Given the description of an element on the screen output the (x, y) to click on. 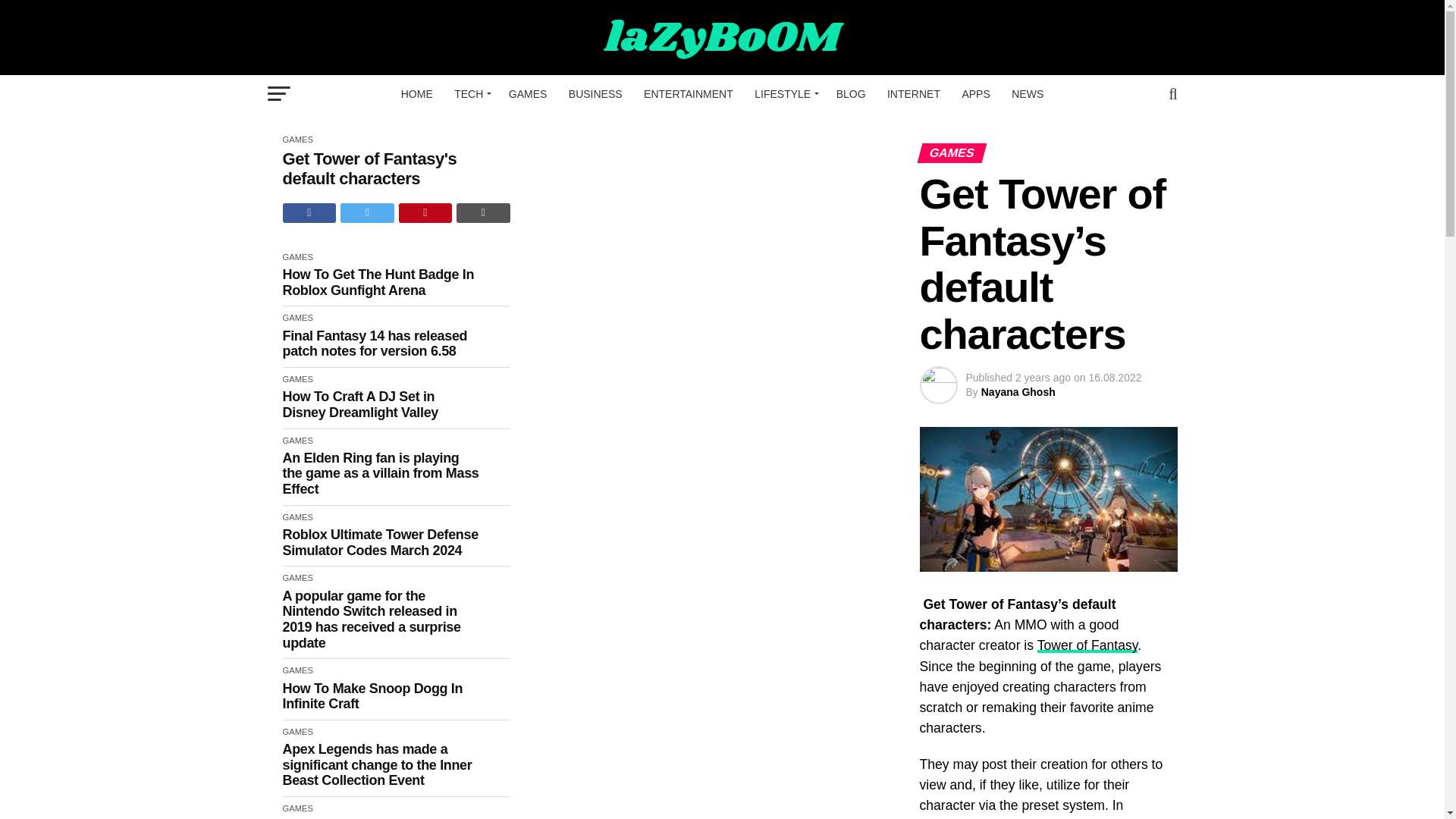
NEWS (1027, 94)
ENTERTAINMENT (688, 94)
Tweet This Post (367, 212)
HOME (416, 94)
BLOG (851, 94)
How To Get The Hunt Badge In Roblox Gunfight Arena (380, 282)
Pin This Post (425, 212)
TECH (470, 94)
BUSINESS (595, 94)
Share on Facebook (309, 212)
GAMES (297, 256)
GAMES (527, 94)
Get Tower of Fantasy's default characters (380, 168)
INTERNET (913, 94)
GAMES (297, 139)
